Given the description of an element on the screen output the (x, y) to click on. 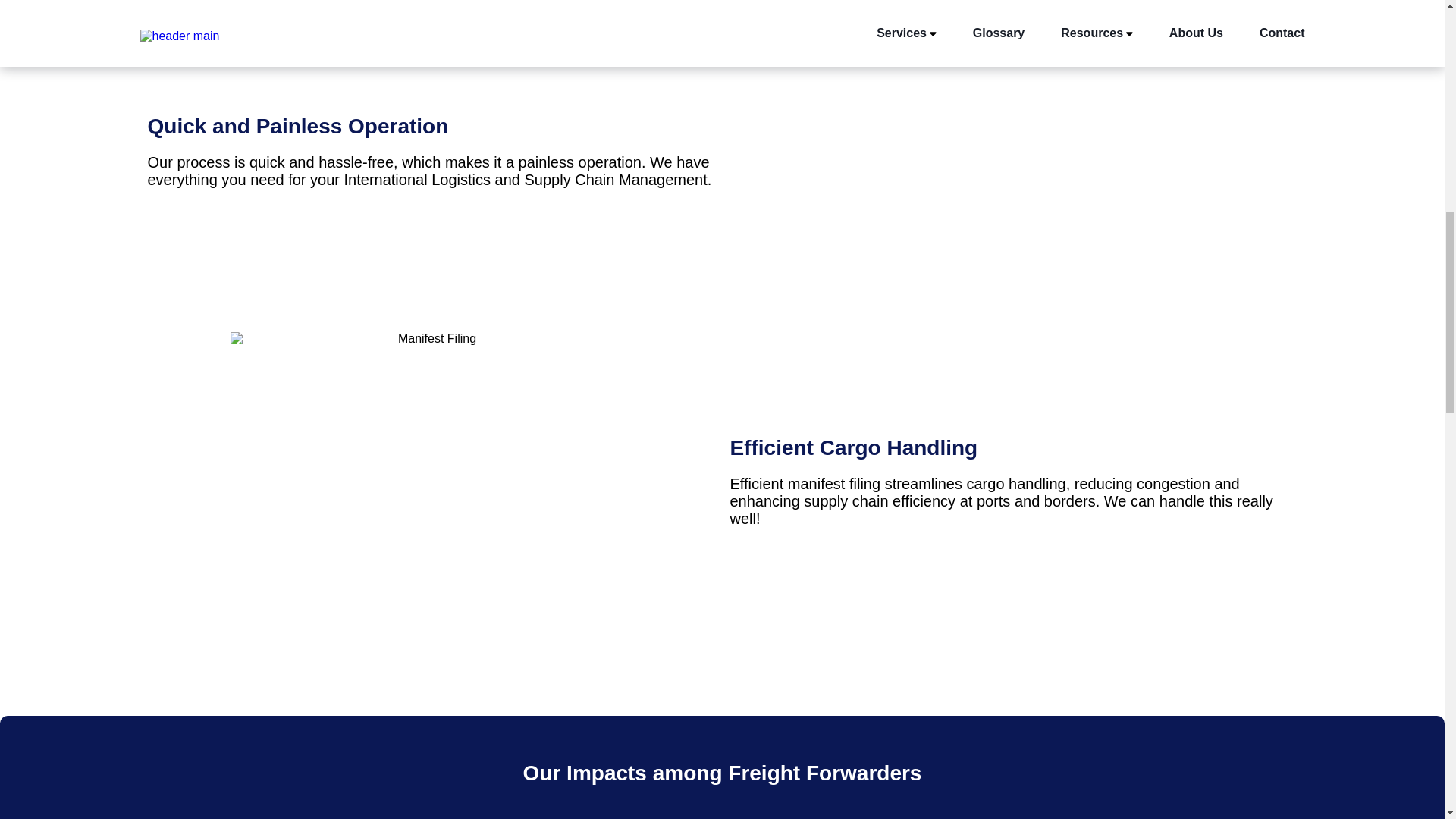
Manifest Filing (1013, 158)
Manifest Filing (430, 489)
